Given the description of an element on the screen output the (x, y) to click on. 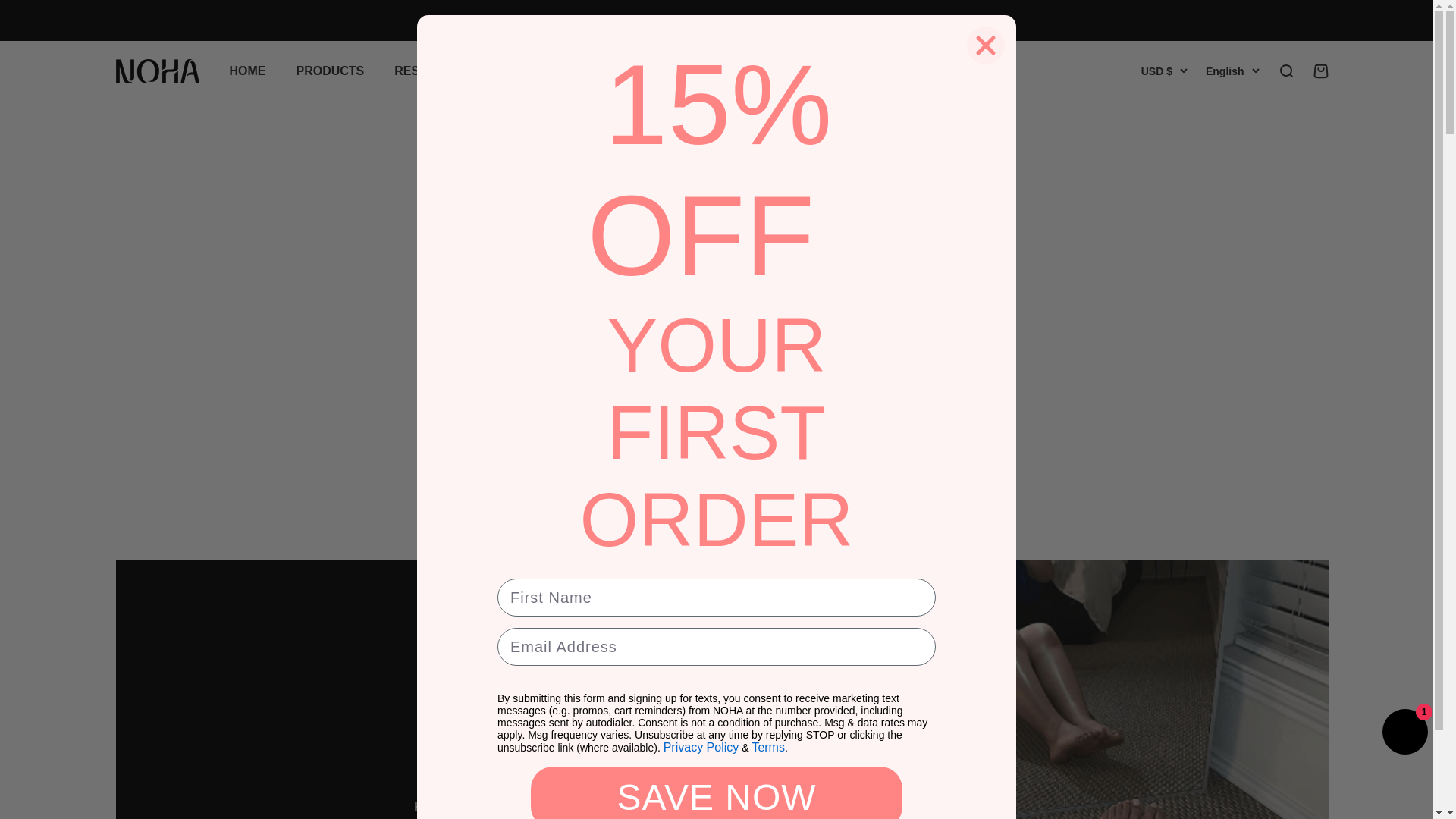
CONTACT (509, 70)
Open search (1285, 71)
NOHA (1319, 71)
HOME (156, 70)
RESULTS (246, 70)
English (421, 70)
PRODUCTS (1232, 71)
Shopify online store chat (329, 70)
BLOG (1404, 733)
